Given the description of an element on the screen output the (x, y) to click on. 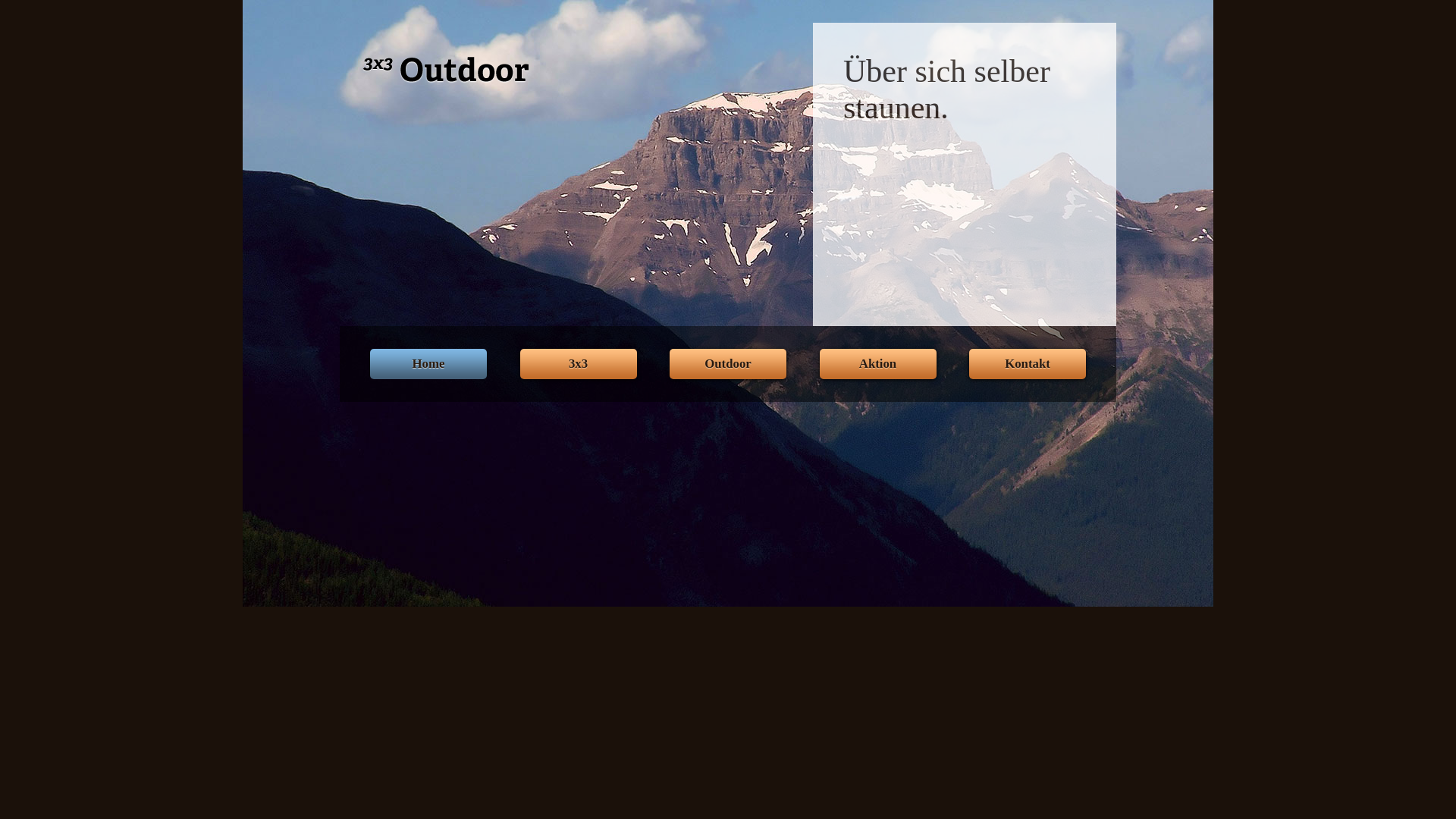
Outdoor Element type: text (727, 363)
Home Element type: text (428, 363)
3x3 Element type: text (578, 363)
Kontakt Element type: text (1027, 363)
Aktion Element type: text (877, 363)
